Given the description of an element on the screen output the (x, y) to click on. 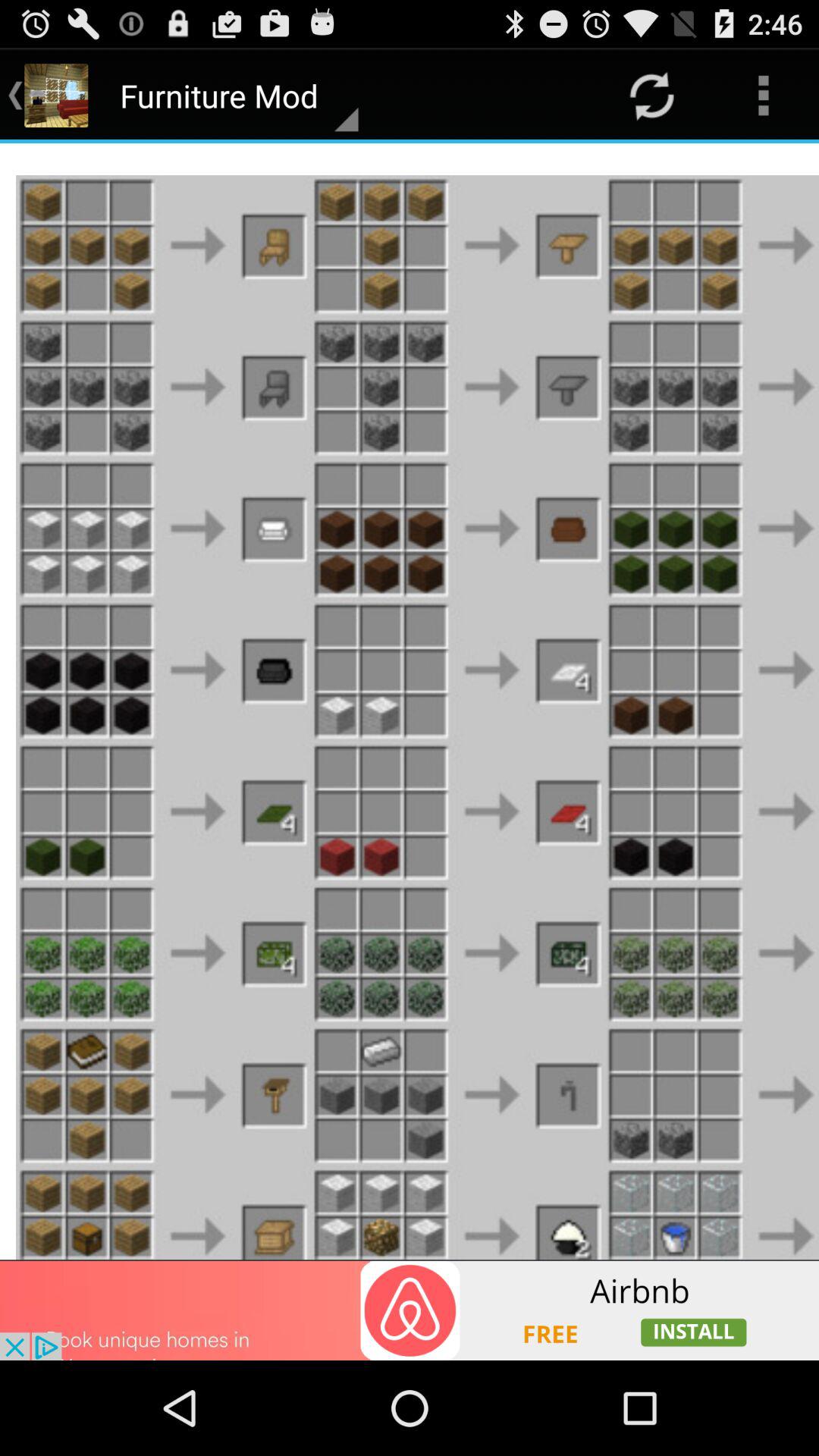
advertisement (409, 1310)
